Given the description of an element on the screen output the (x, y) to click on. 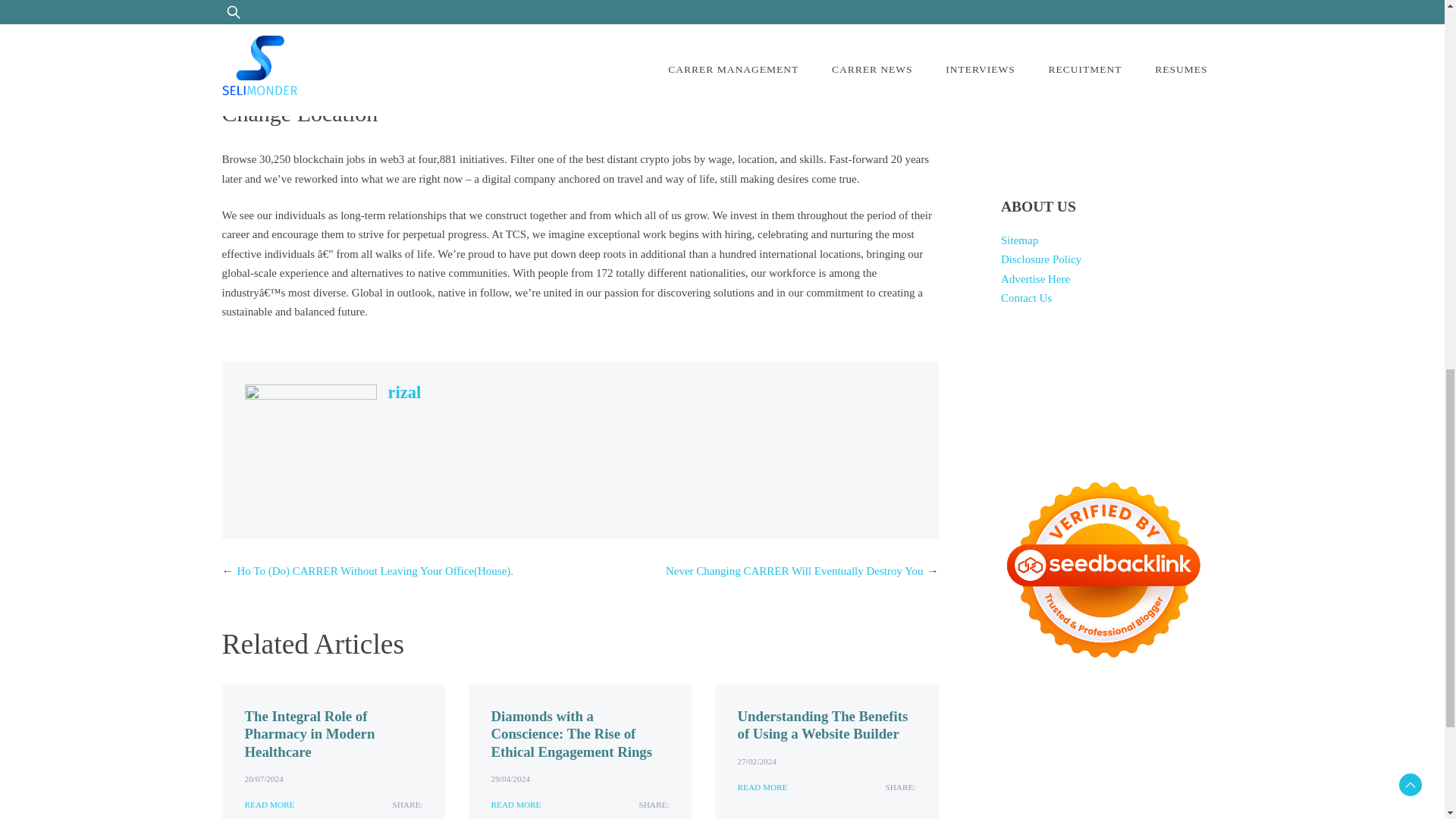
rizal (405, 392)
READ MORE (269, 804)
The Integral Role of Pharmacy in Modern Healthcare (309, 734)
READ MORE (516, 804)
READ MORE (761, 787)
Understanding The Benefits of Using a Website Builder (821, 725)
Never Changing CARRER Will Eventually Destroy You (794, 571)
Seedbacklink (1103, 569)
